Given the description of an element on the screen output the (x, y) to click on. 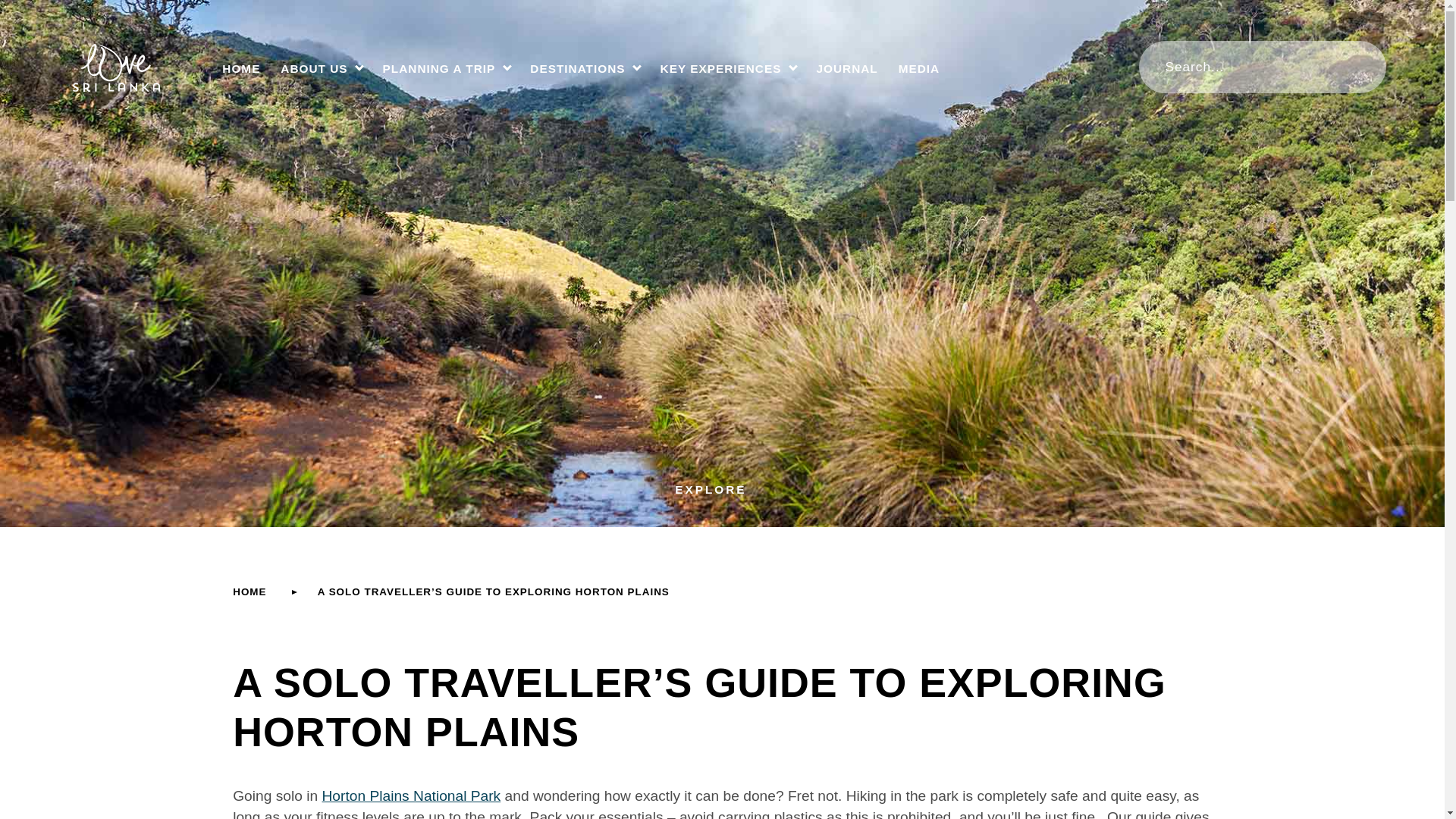
Love Sri Lanka (109, 67)
Home (249, 591)
